Given the description of an element on the screen output the (x, y) to click on. 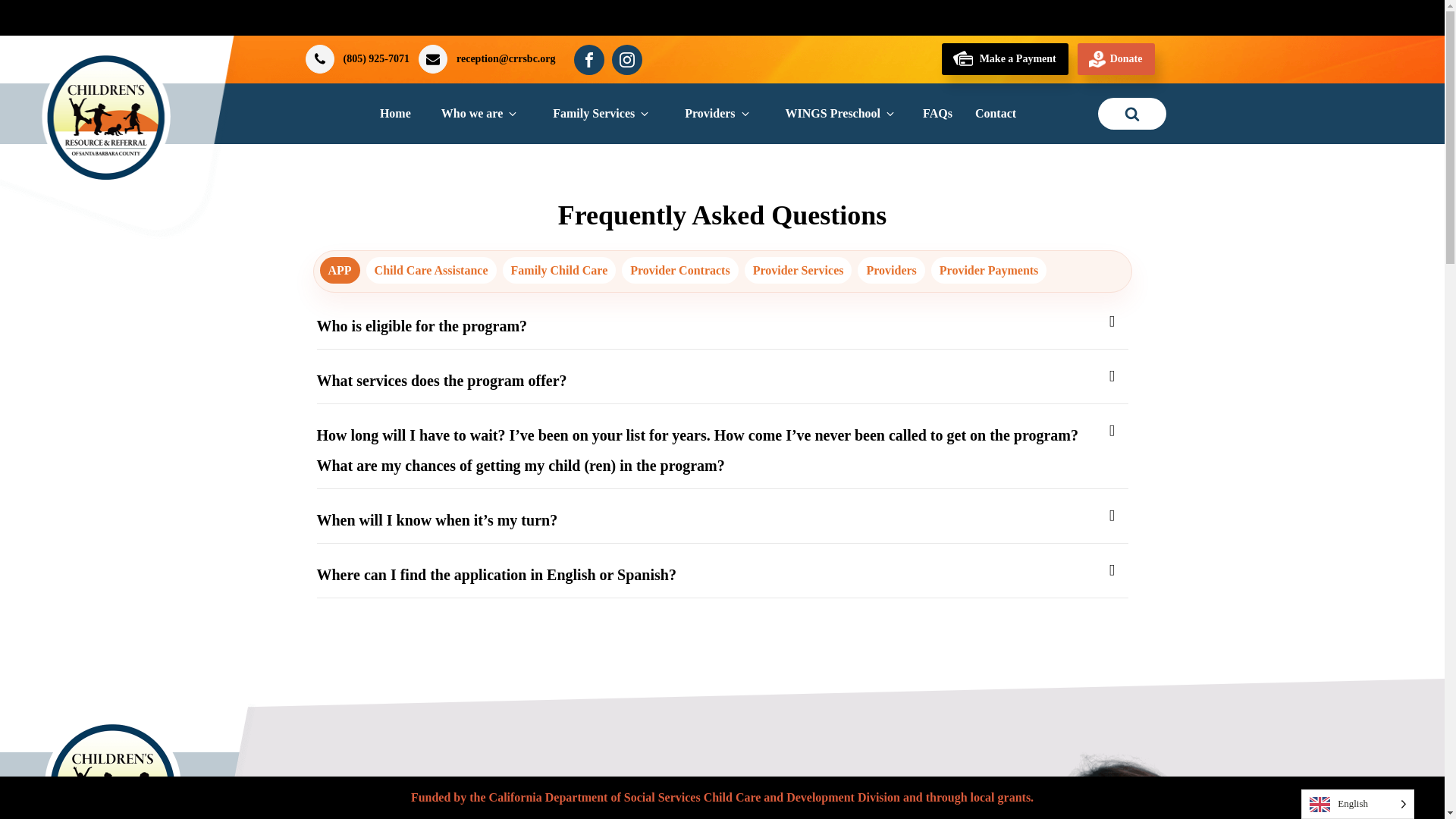
Make a Payment (1005, 59)
Donate (1115, 59)
